Given the description of an element on the screen output the (x, y) to click on. 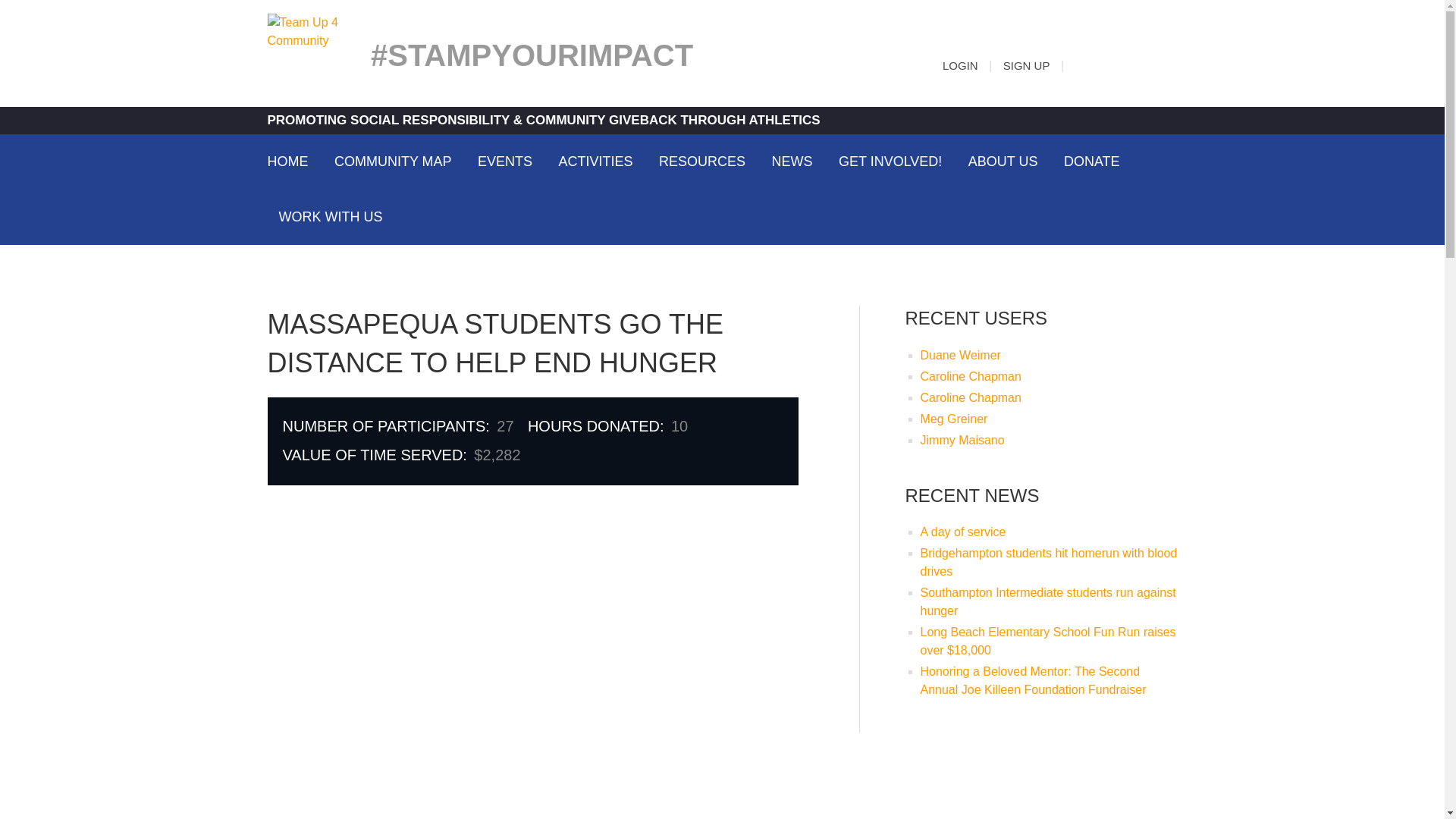
ABOUT US (1002, 160)
Meg Greiner (954, 418)
YouTube (1166, 60)
Twitter (1144, 60)
Duane Weimer (960, 354)
LOGIN (960, 65)
Instagram (1123, 60)
SIGN UP (1026, 65)
Caroline Chapman (971, 376)
NEWS (792, 160)
